Given the description of an element on the screen output the (x, y) to click on. 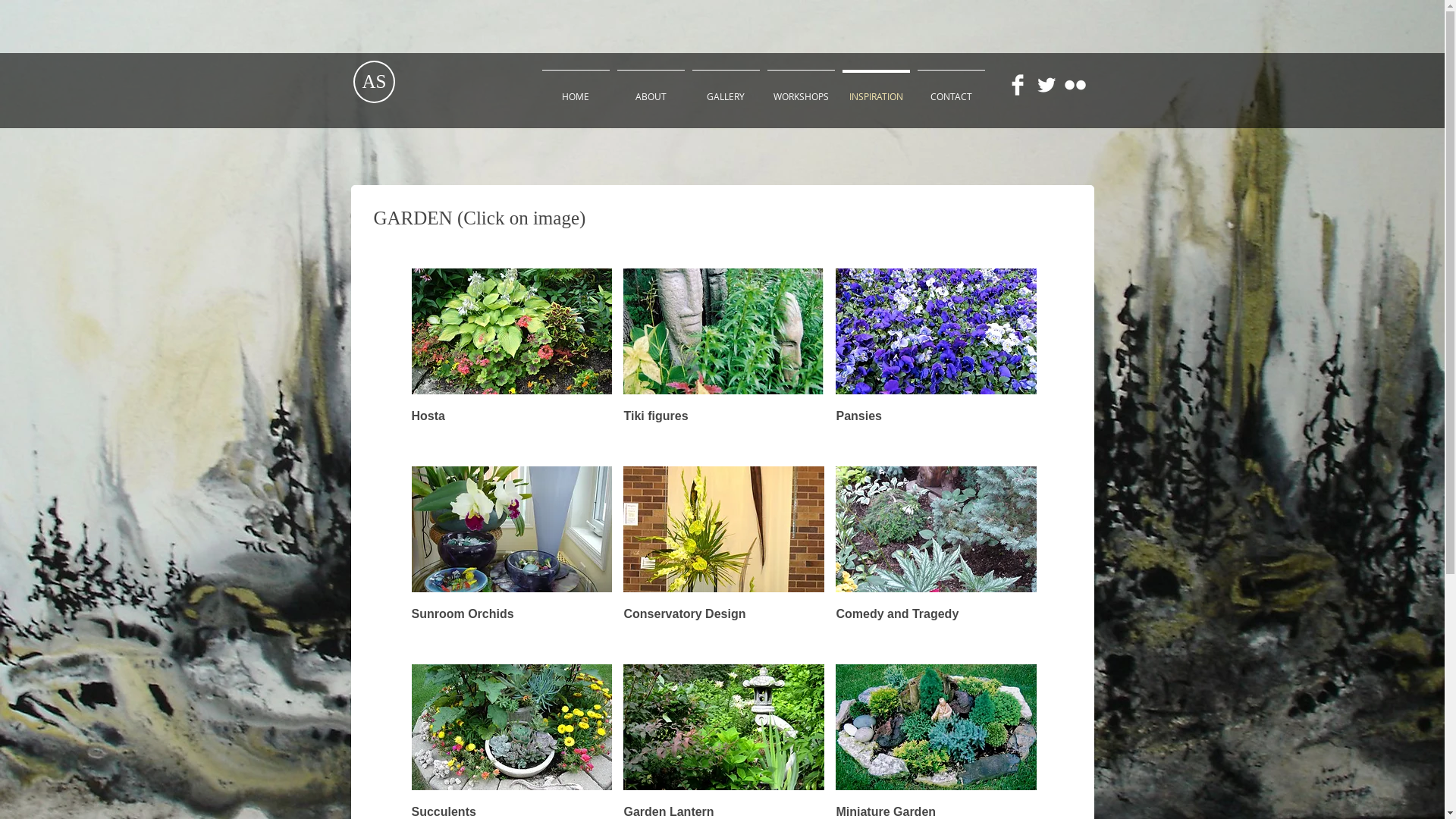
WORKSHOPS Element type: text (799, 89)
HOME Element type: text (575, 89)
INSPIRATION Element type: text (875, 89)
GALLERY Element type: text (725, 89)
CONTACT Element type: text (950, 89)
ABOUT Element type: text (649, 89)
